Given the description of an element on the screen output the (x, y) to click on. 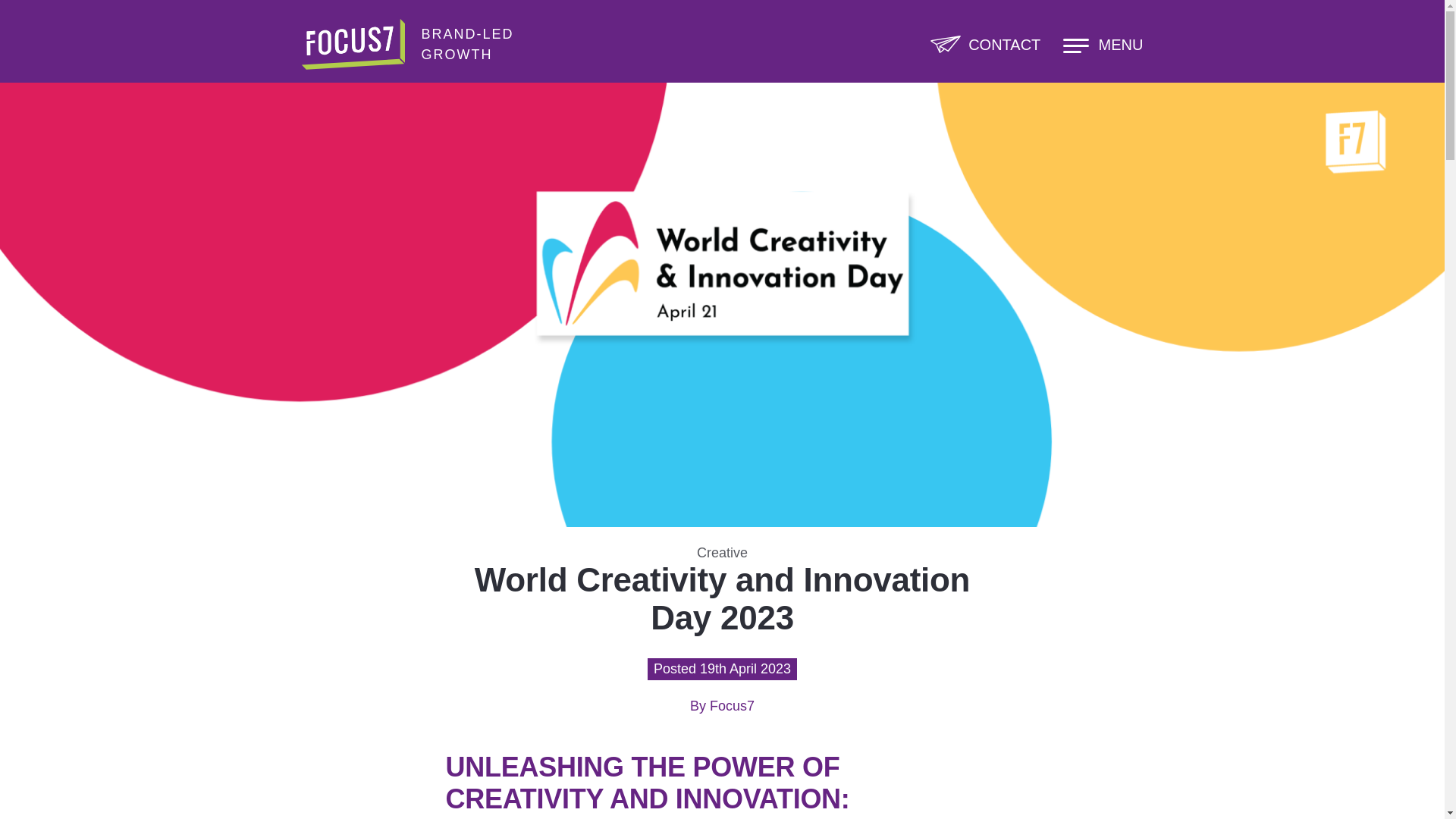
MENU (1102, 43)
CONTACT (985, 44)
